Given the description of an element on the screen output the (x, y) to click on. 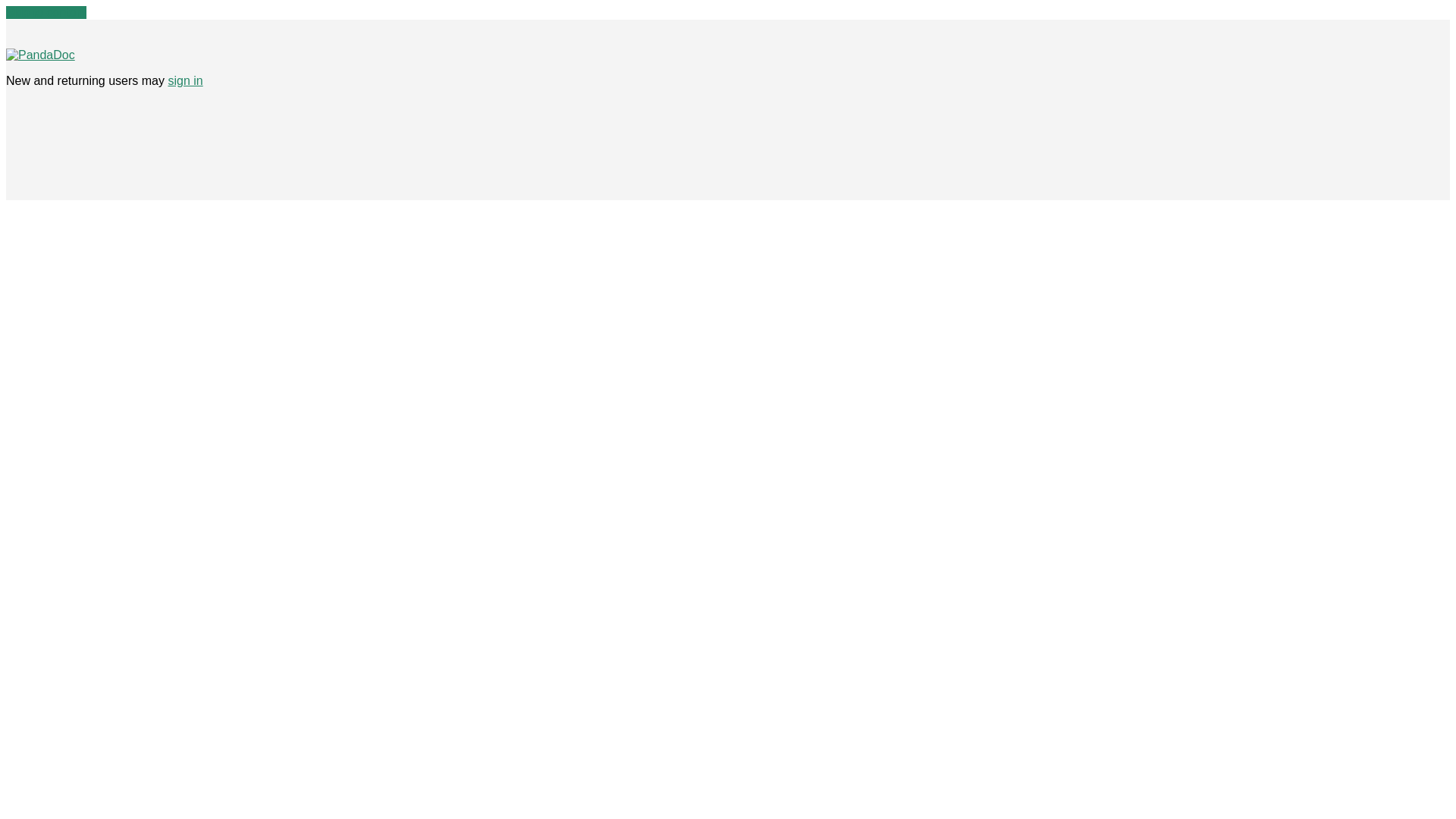
Skip to content (45, 11)
Have an idea? Share it! (40, 54)
sign in (184, 80)
